Given the description of an element on the screen output the (x, y) to click on. 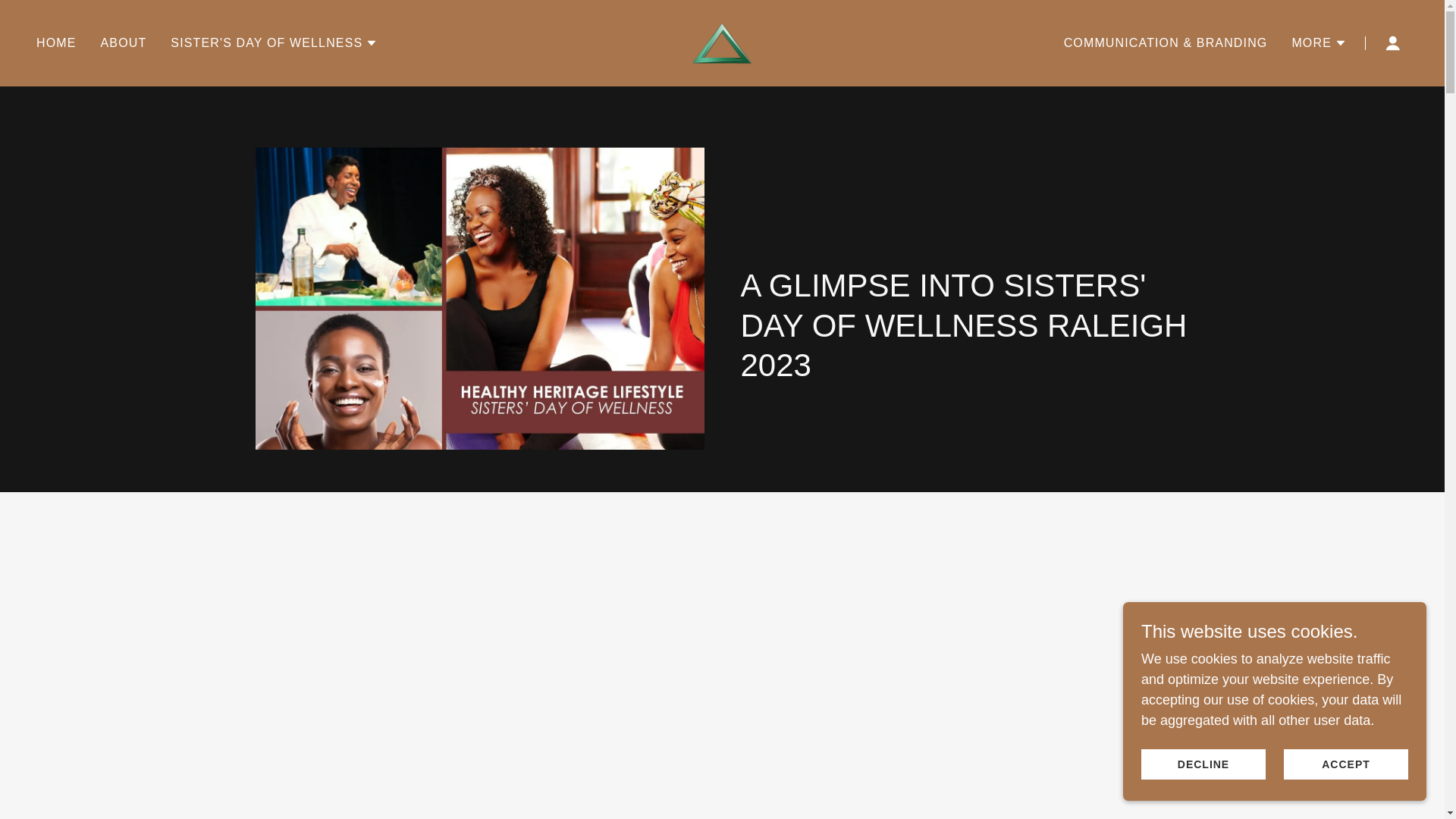
HOME (56, 42)
Benniegirl Health and Wellness Branding  Events, Inc. (721, 42)
MORE (1318, 43)
SISTER'S DAY OF WELLNESS (273, 43)
ABOUT (123, 42)
